Given the description of an element on the screen output the (x, y) to click on. 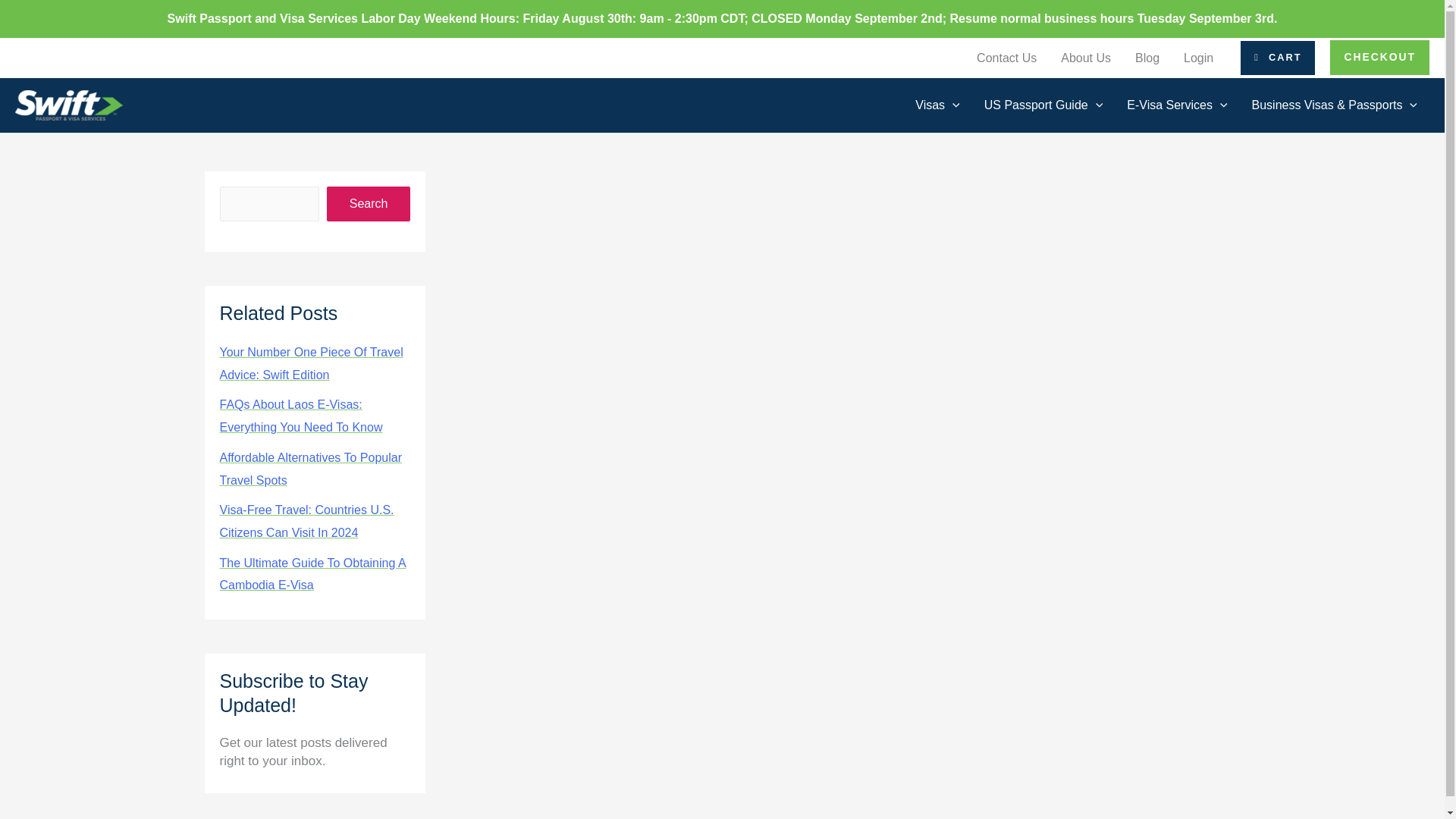
E-Visa Services (1177, 105)
CHECKOUT (1379, 57)
CART (1277, 57)
Contact Us (1005, 58)
Login (1198, 58)
Visas (936, 105)
US Passport Guide (1043, 105)
Blog (1147, 58)
About Us (1085, 58)
